Given the description of an element on the screen output the (x, y) to click on. 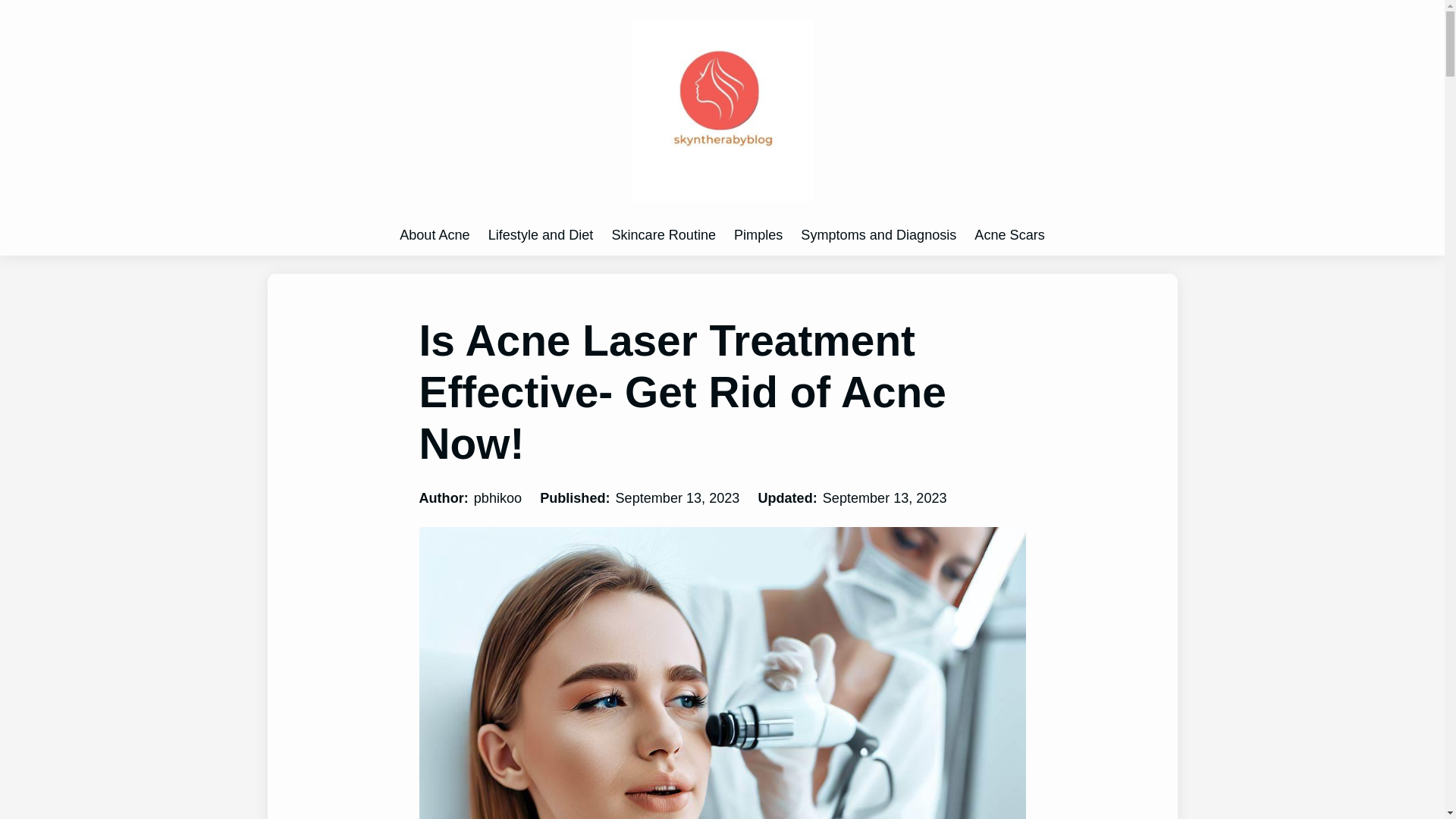
Skincare Routine (663, 235)
Acne Scars (1008, 235)
Symptoms and Diagnosis (878, 235)
Pimples (758, 235)
Lifestyle and Diet (540, 235)
About Acne (433, 235)
